Given the description of an element on the screen output the (x, y) to click on. 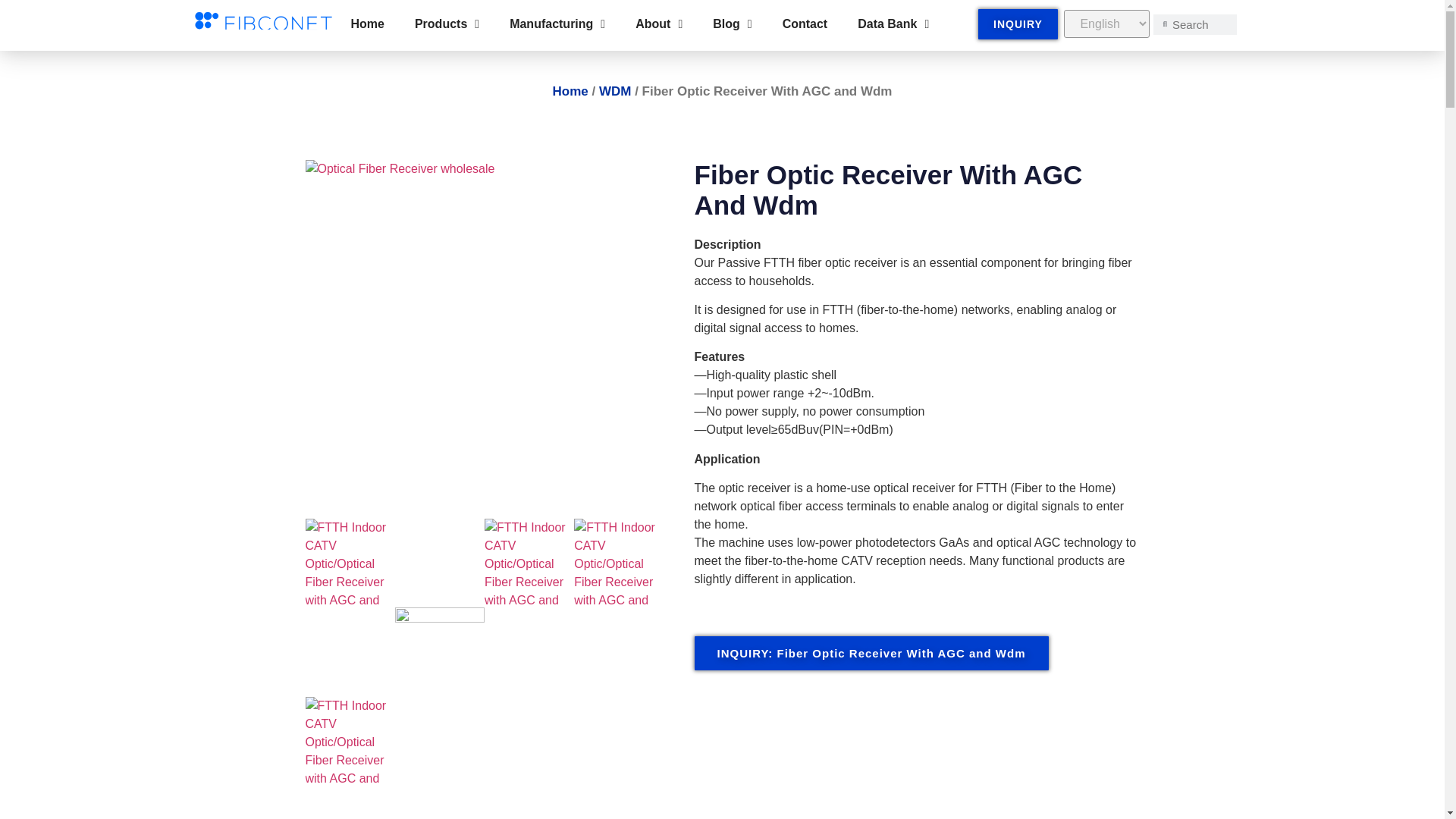
Home (366, 23)
Ningbo-Fibconet-Communication-Technology-Co-Ltd- (349, 741)
Products (446, 23)
